Given the description of an element on the screen output the (x, y) to click on. 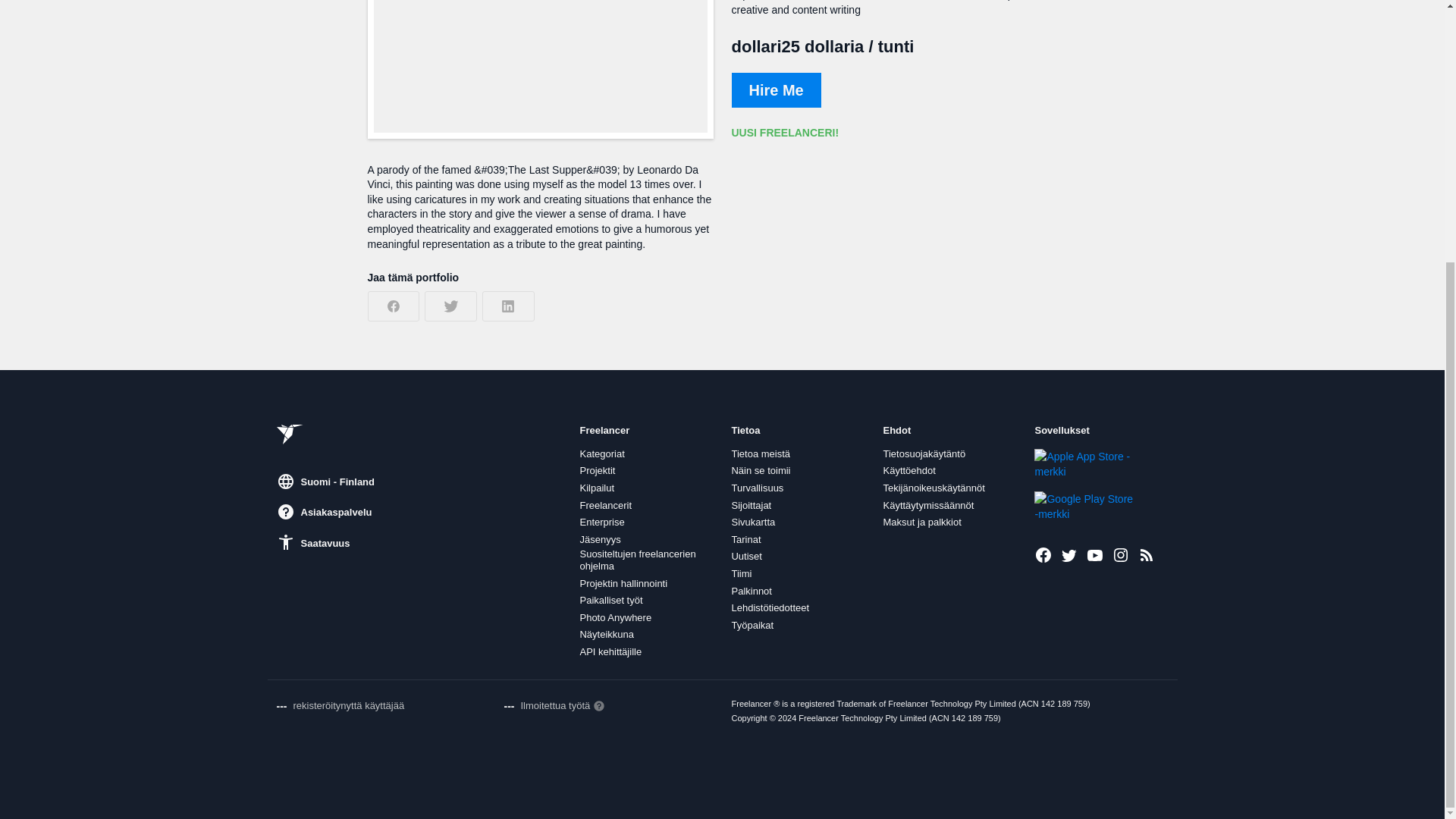
Tiimi (740, 573)
Photo Anywhere (614, 617)
Enterprise (601, 522)
Projektit (596, 470)
Sivukartta (752, 522)
Freelancer Youtubessa (1094, 555)
Turvallisuus (756, 488)
Jaa Facebookissa (392, 306)
Suomi - Finland (325, 481)
Kategoriat (601, 453)
Tarinat (745, 539)
Freelancer Instagramissa (1120, 555)
Sijoittajat (750, 505)
Uusimmat projektit (1146, 555)
Kilpailut (596, 488)
